Given the description of an element on the screen output the (x, y) to click on. 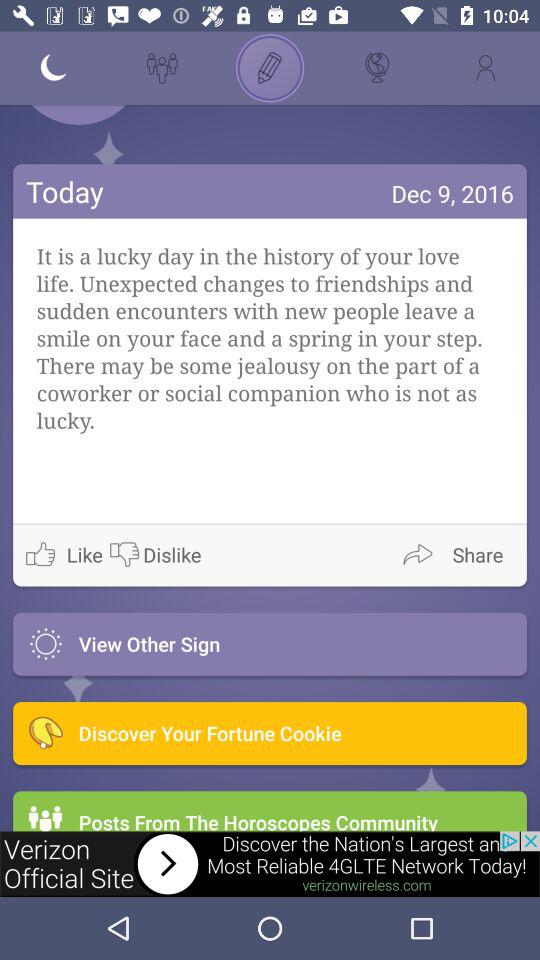
message box (509, 114)
